Given the description of an element on the screen output the (x, y) to click on. 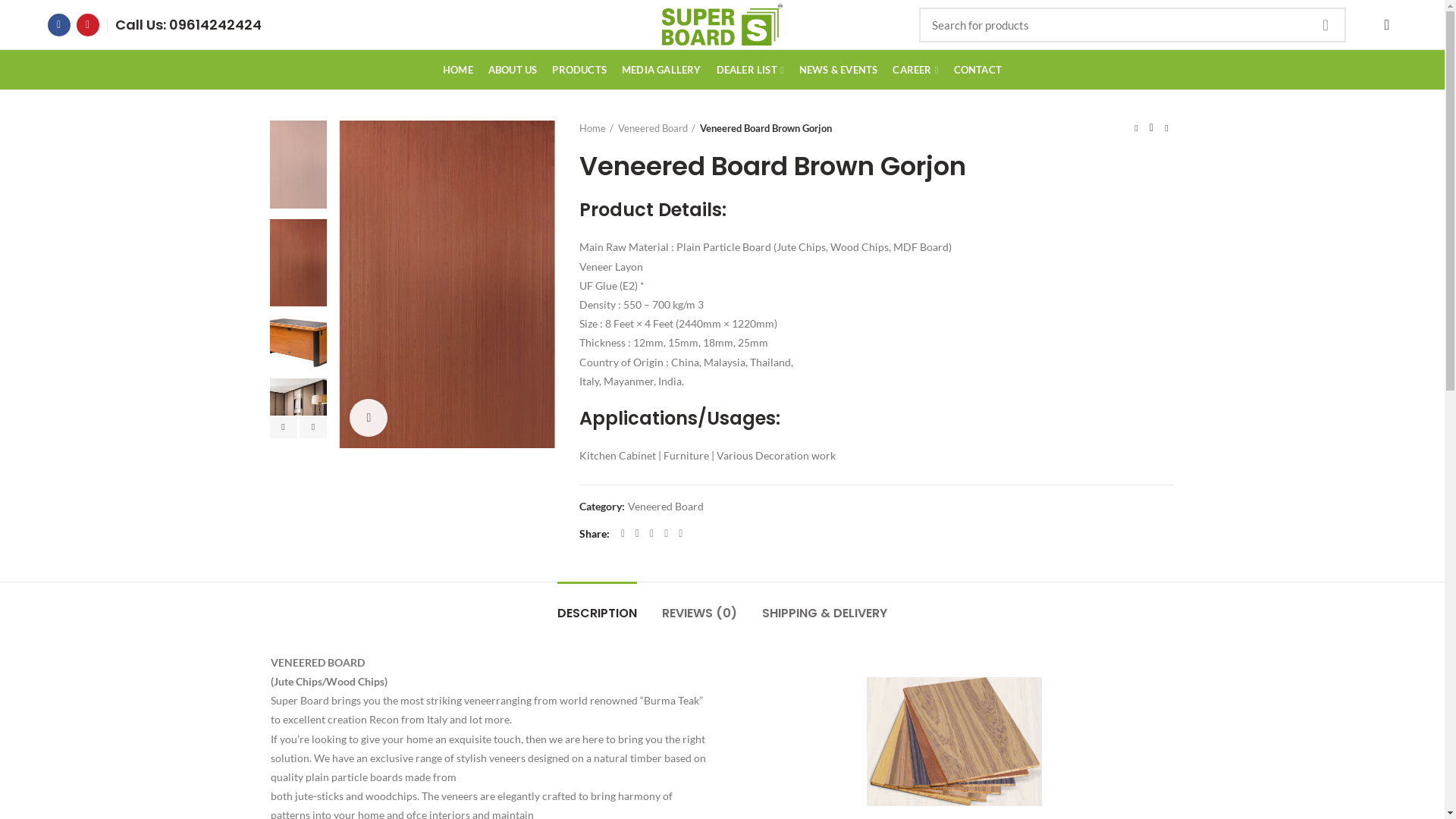
PREVIOUS Element type: text (283, 426)
Facebook Element type: text (622, 533)
REVIEWS (0) Element type: text (699, 605)
Facebook Element type: text (58, 24)
Login Element type: text (1263, 251)
Home Element type: text (596, 127)
Previous product Element type: text (1135, 127)
PRODUCTS Element type: text (579, 69)
Veneered Board Element type: text (656, 127)
YouTube Element type: text (87, 24)
Email Element type: text (665, 533)
Computer Furniture Element type: hover (298, 341)
Brown-Gorjon Element type: hover (298, 263)
CAREER Element type: text (914, 69)
DEALER LIST Element type: text (750, 69)
SEARCH Element type: text (1325, 24)
Cupboards Element type: hover (298, 407)
Next product Element type: text (1165, 127)
Veneered Board Element type: text (665, 506)
Twitter Element type: text (637, 533)
DESCRIPTION Element type: text (597, 605)
Brown-Gorjon Element type: hover (446, 284)
Google Element type: text (651, 533)
Pinterest Element type: text (680, 533)
ABOUT US Element type: text (512, 69)
Brown-Gorjon Element type: hover (298, 164)
NEXT Element type: text (312, 426)
SHIPPING & DELIVERY Element type: text (824, 605)
HOME Element type: text (457, 69)
CONTACT Element type: text (977, 69)
NEWS & EVENTS Element type: text (838, 69)
MEDIA GALLERY Element type: text (661, 69)
